Given the description of an element on the screen output the (x, y) to click on. 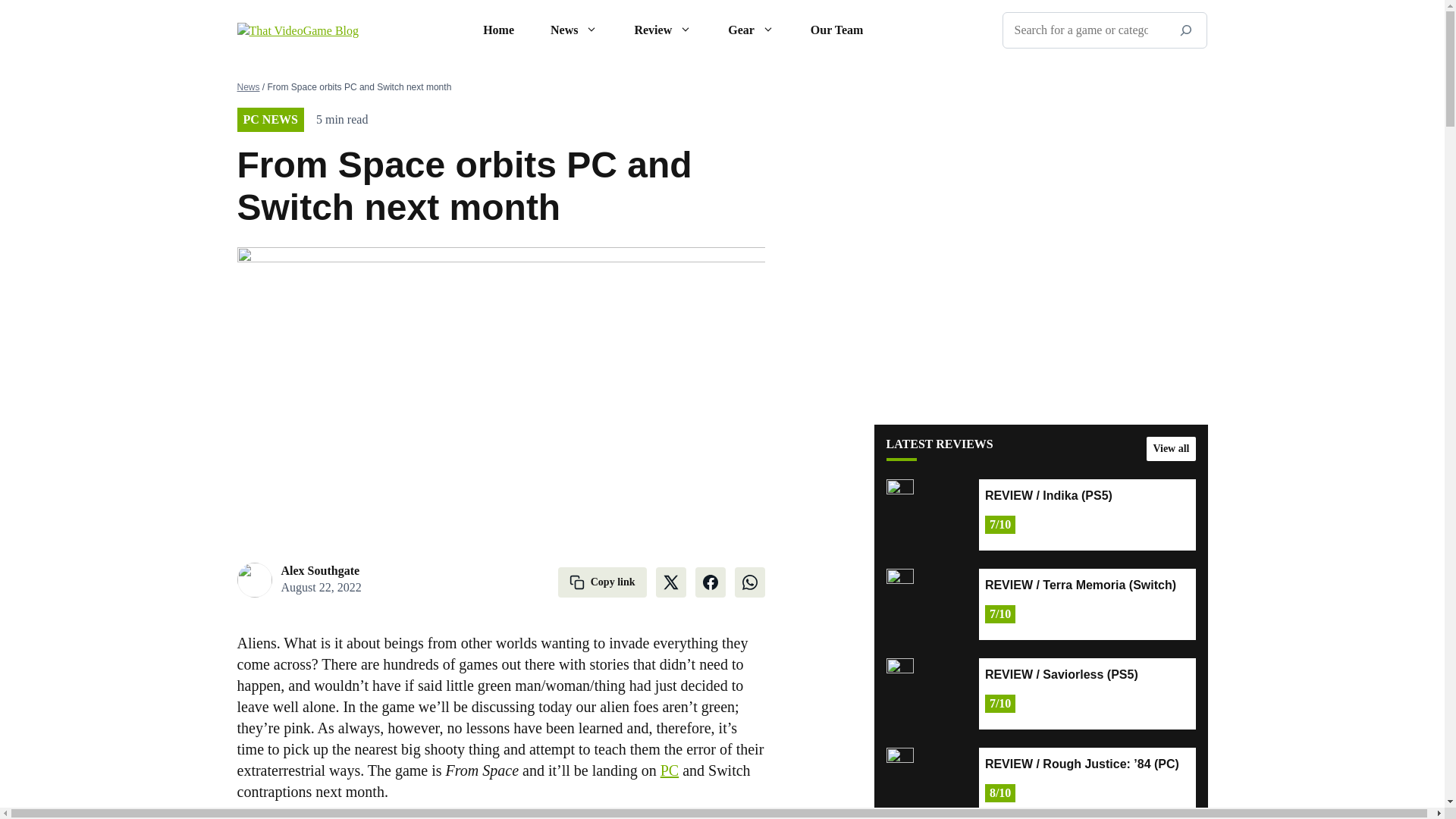
News (573, 29)
Home (498, 29)
Gear (751, 29)
Review (662, 29)
